Given the description of an element on the screen output the (x, y) to click on. 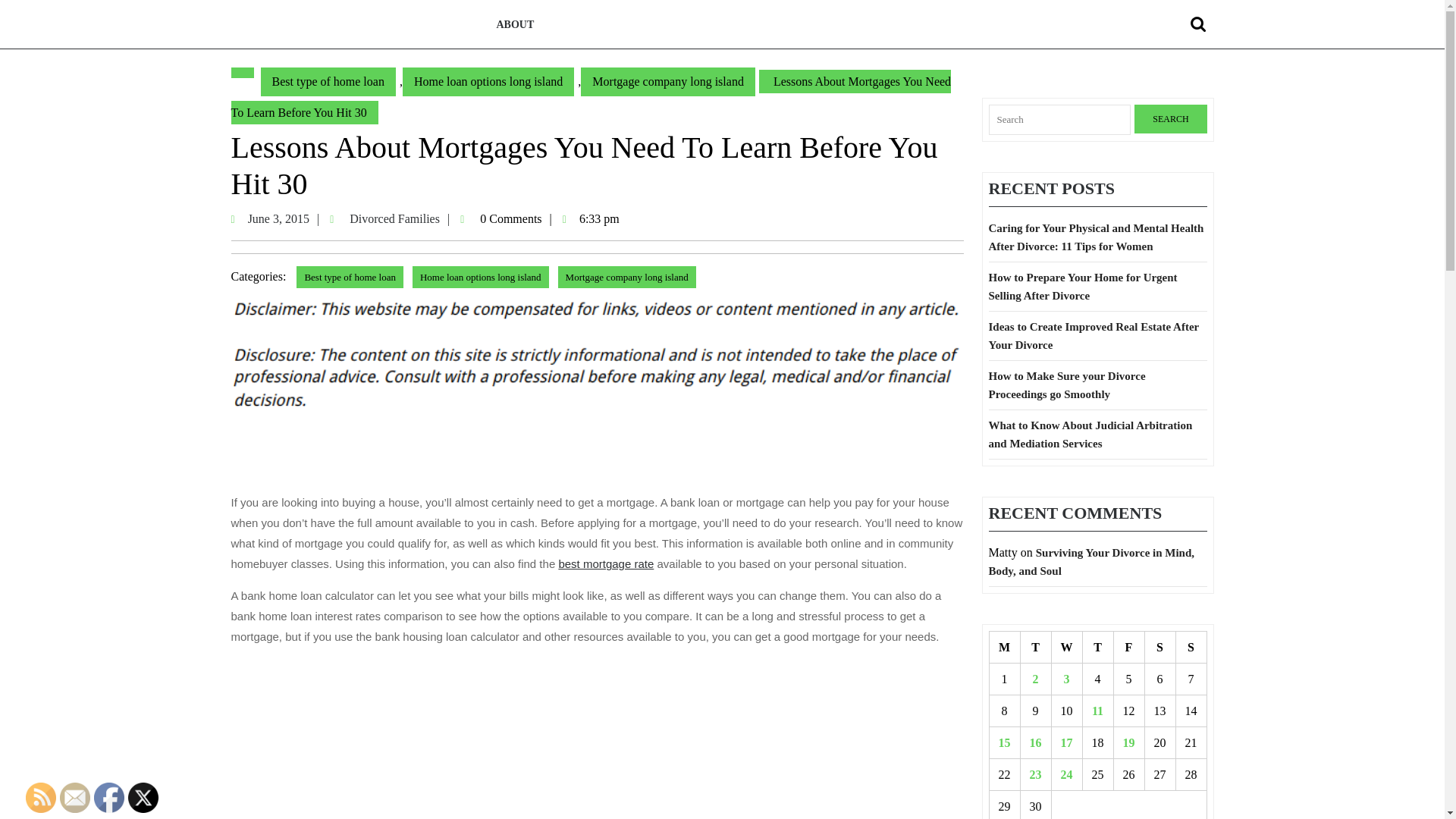
Home loan options long island (488, 81)
How to Make Sure your Divorce Proceedings go Smoothly (1066, 385)
Mortgage company long island (667, 81)
15 (285, 218)
RSS (400, 218)
How to Prepare Your Home for Urgent Selling After Divorce (1003, 742)
Best type of home loan (41, 797)
Search (1082, 286)
Ideas to Create Improved Real Estate After Your Divorce (328, 81)
Home loan options long island (1200, 23)
Search (1093, 336)
11 (480, 277)
